Given the description of an element on the screen output the (x, y) to click on. 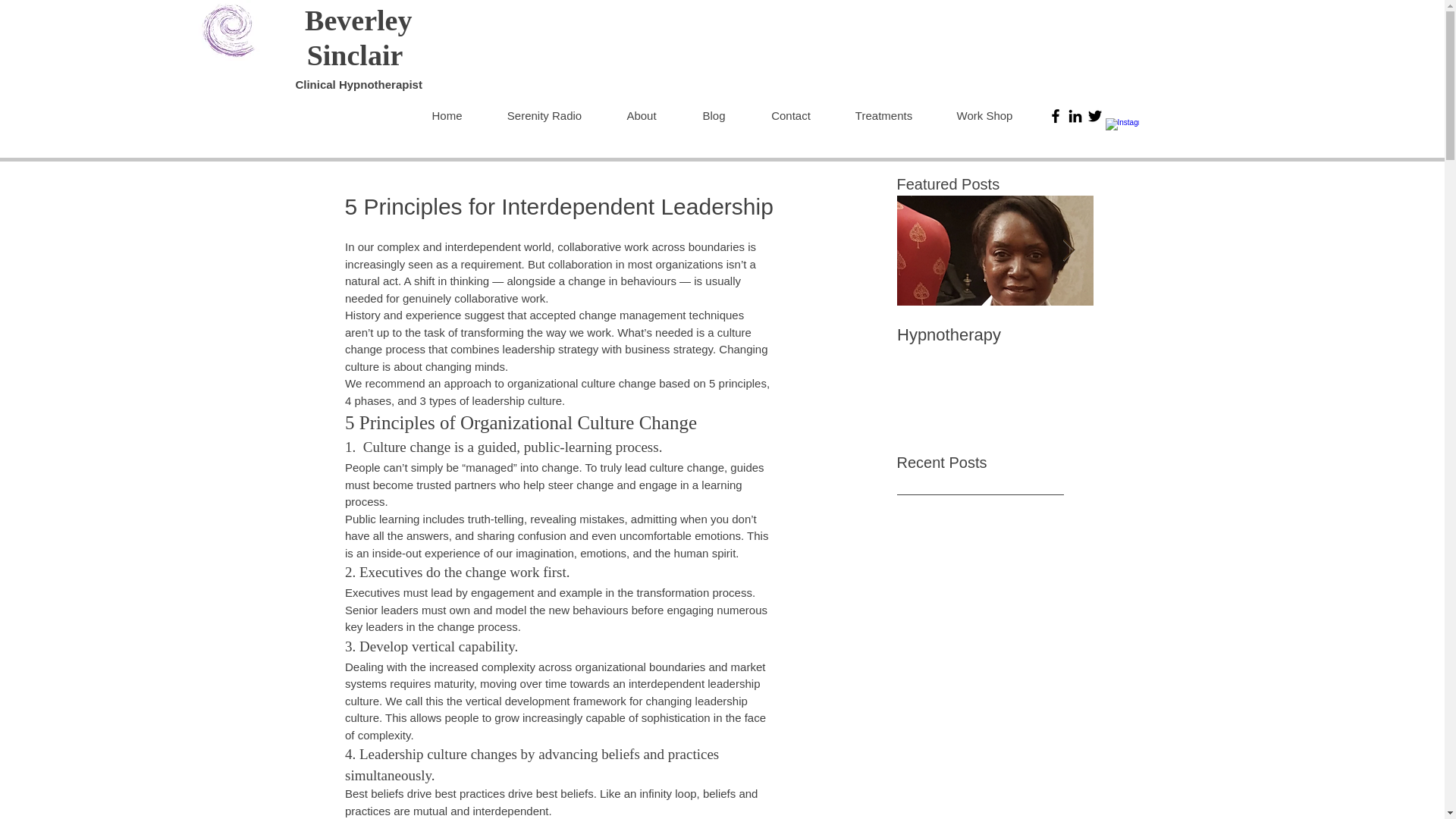
Serenity Radio (544, 115)
Blog (713, 115)
Contact (790, 115)
Home (446, 115)
Treatments (882, 115)
